Given the description of an element on the screen output the (x, y) to click on. 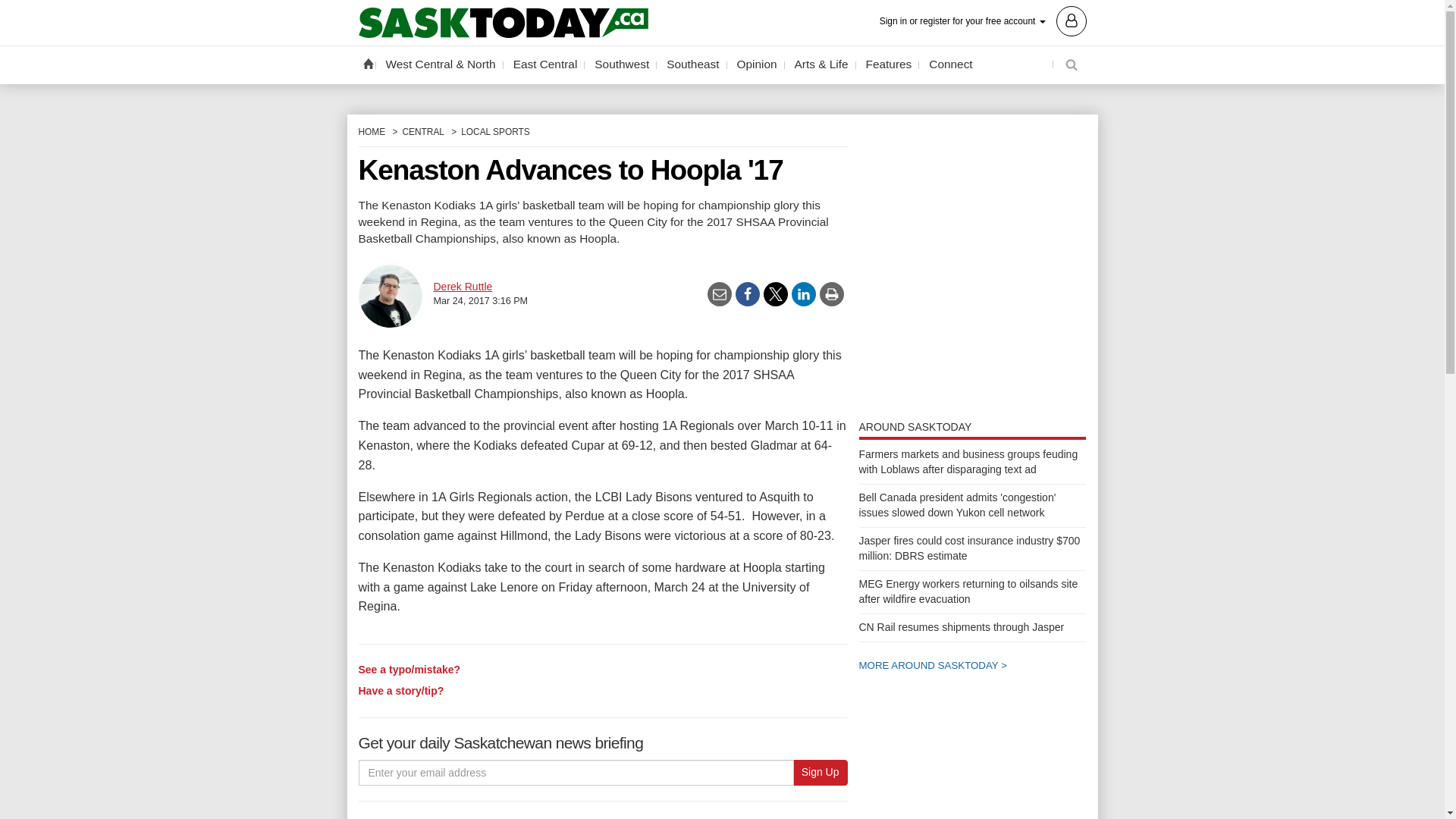
Southwest (622, 64)
Sign in or register for your free account (982, 20)
3rd party ad content (972, 804)
East Central (545, 64)
Home (367, 63)
